Given the description of an element on the screen output the (x, y) to click on. 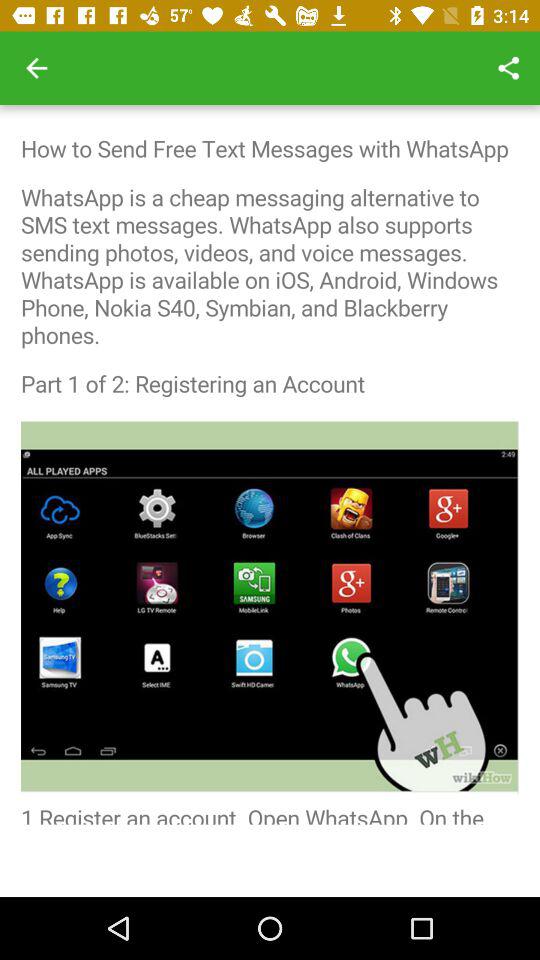
full page (270, 464)
